Given the description of an element on the screen output the (x, y) to click on. 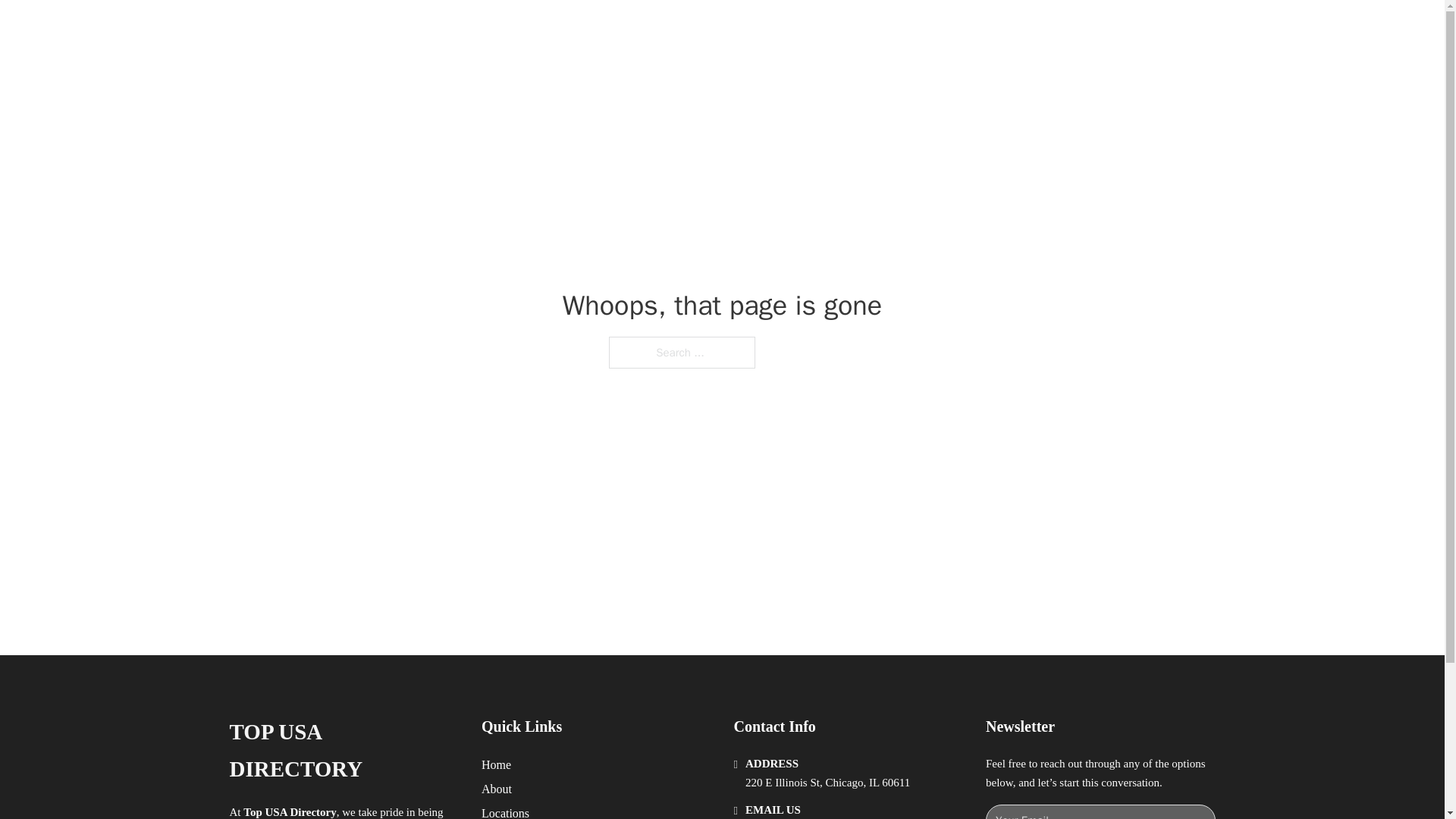
About (496, 788)
LOCATIONS (990, 29)
HOME (919, 29)
Home (496, 764)
Locations (505, 811)
TOP USA DIRECTORY (414, 28)
TOP USA DIRECTORY (343, 750)
